Given the description of an element on the screen output the (x, y) to click on. 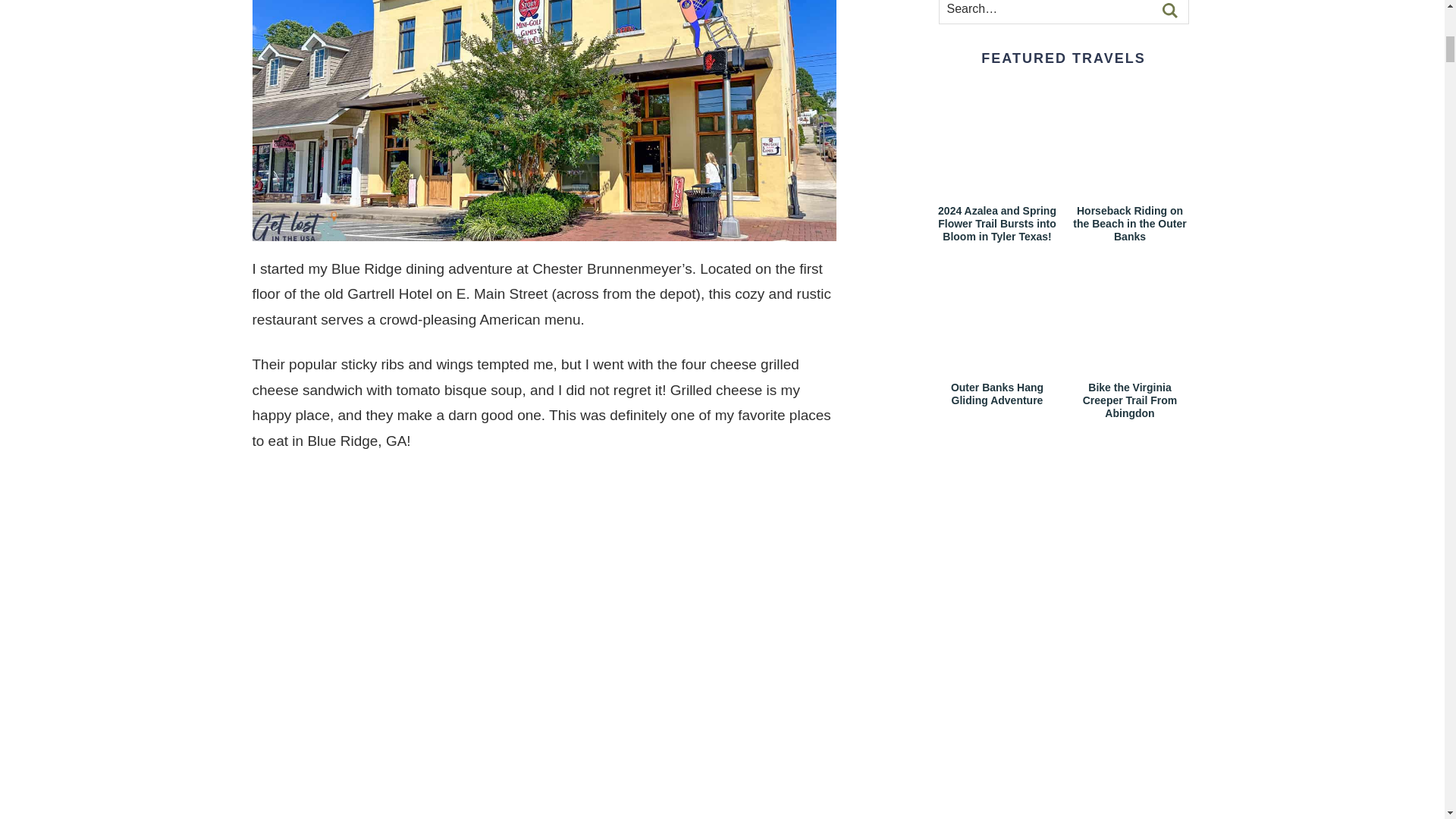
Search for (1063, 11)
